Given the description of an element on the screen output the (x, y) to click on. 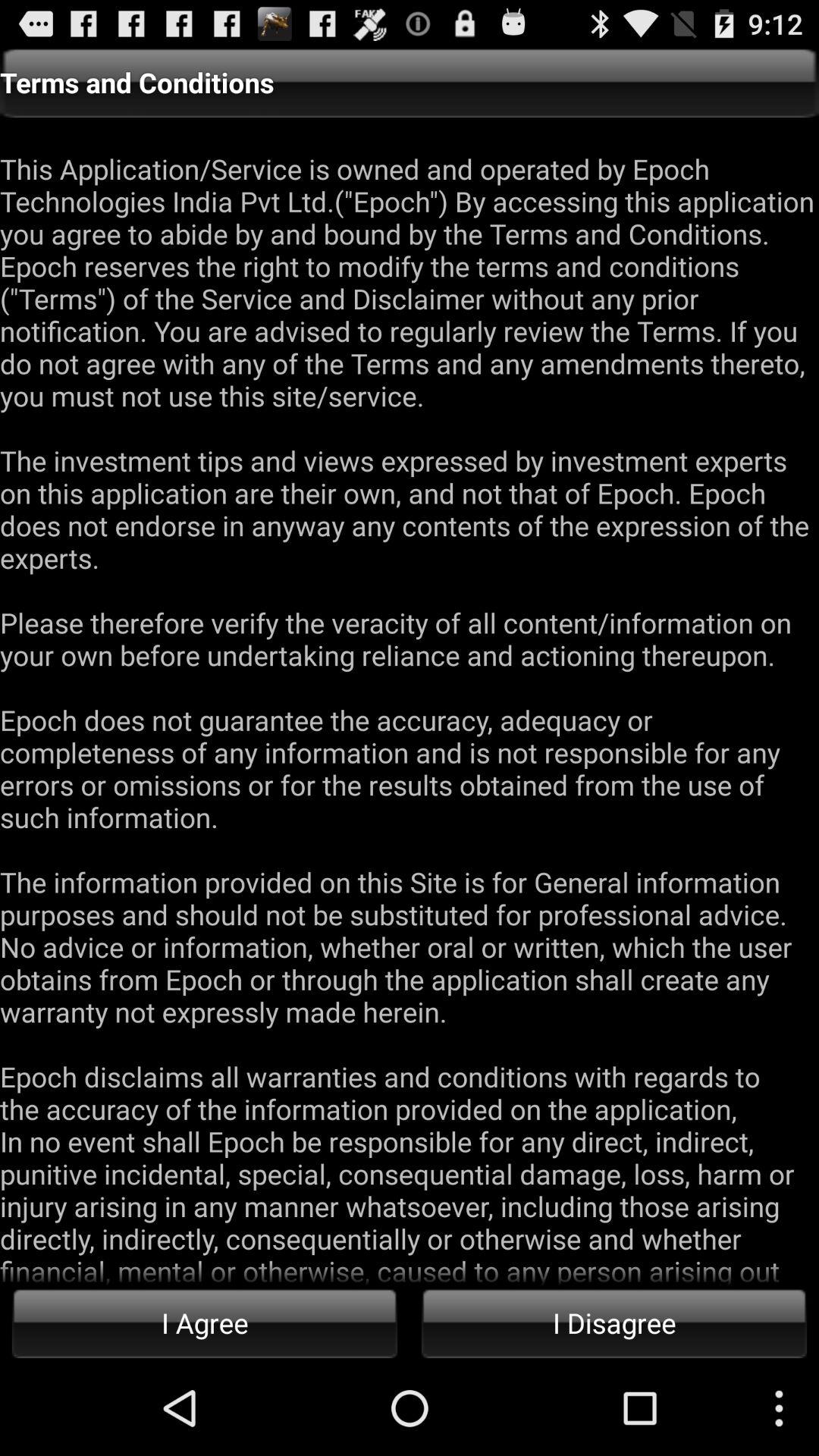
swipe to i disagree  button (614, 1323)
